Given the description of an element on the screen output the (x, y) to click on. 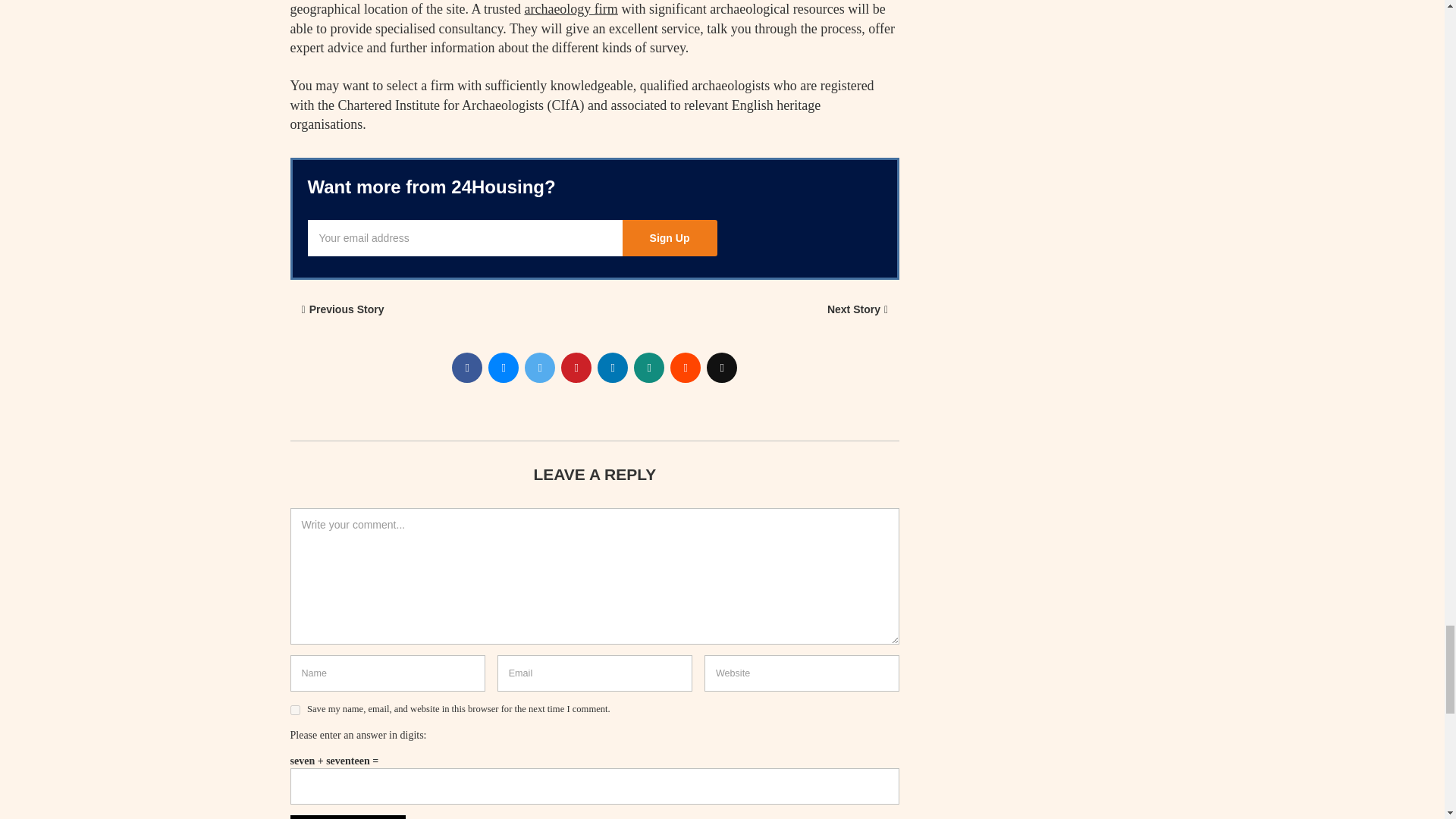
archaeology firm (570, 8)
Sign Up (668, 238)
Previous Story (342, 309)
yes (294, 709)
Next Story (857, 309)
Post Comment (347, 816)
Post Comment (347, 816)
